Given the description of an element on the screen output the (x, y) to click on. 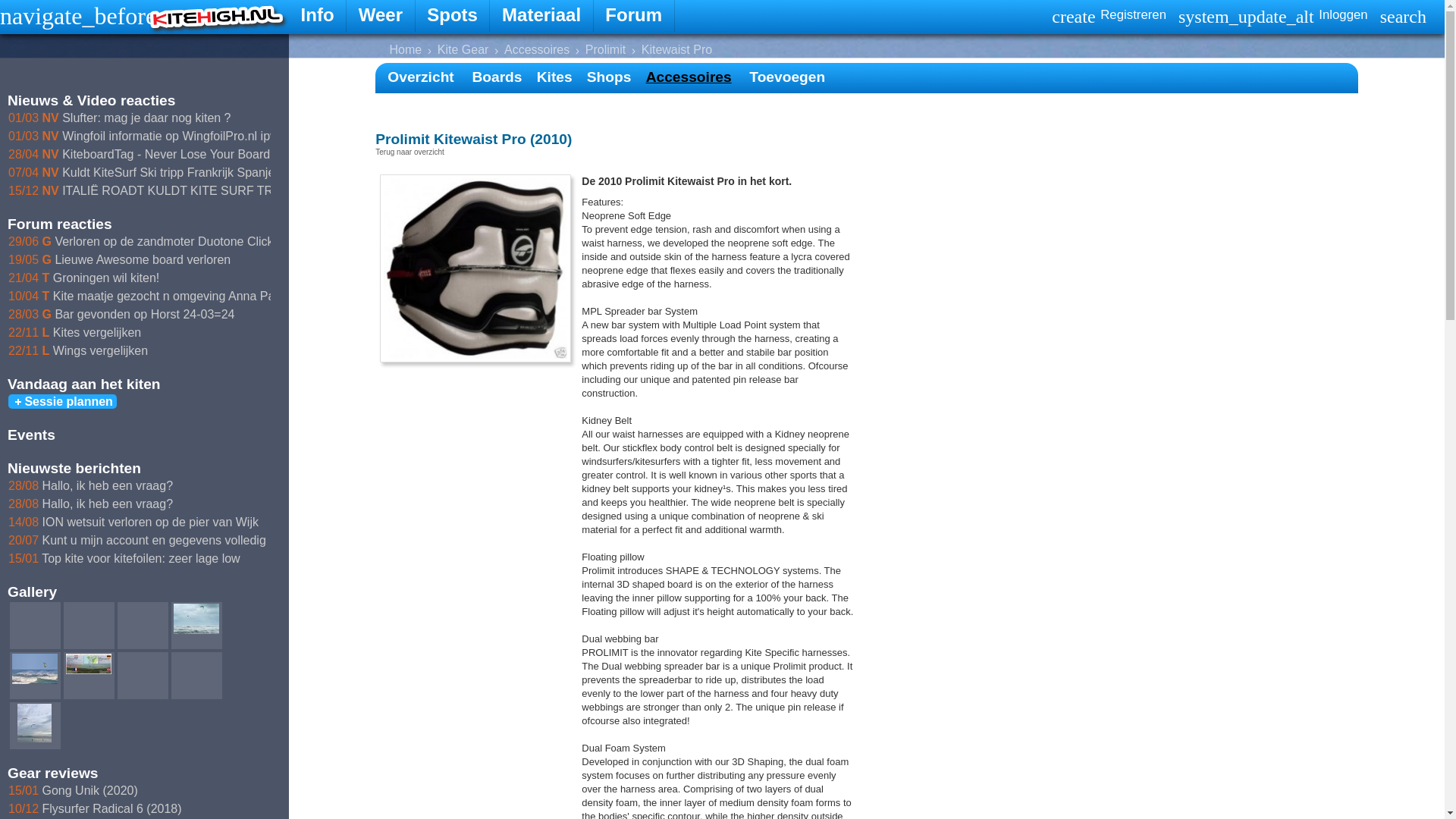
search (1403, 16)
Spots (452, 15)
tiemerietveld.jpg (195, 618)
Info (317, 15)
create Registreren (1108, 16)
De Slufter - spot regels (87, 663)
Weer (380, 15)
Forum (634, 15)
Materiaal (540, 15)
smaII-WaVe-CED.jpg (34, 668)
